Given the description of an element on the screen output the (x, y) to click on. 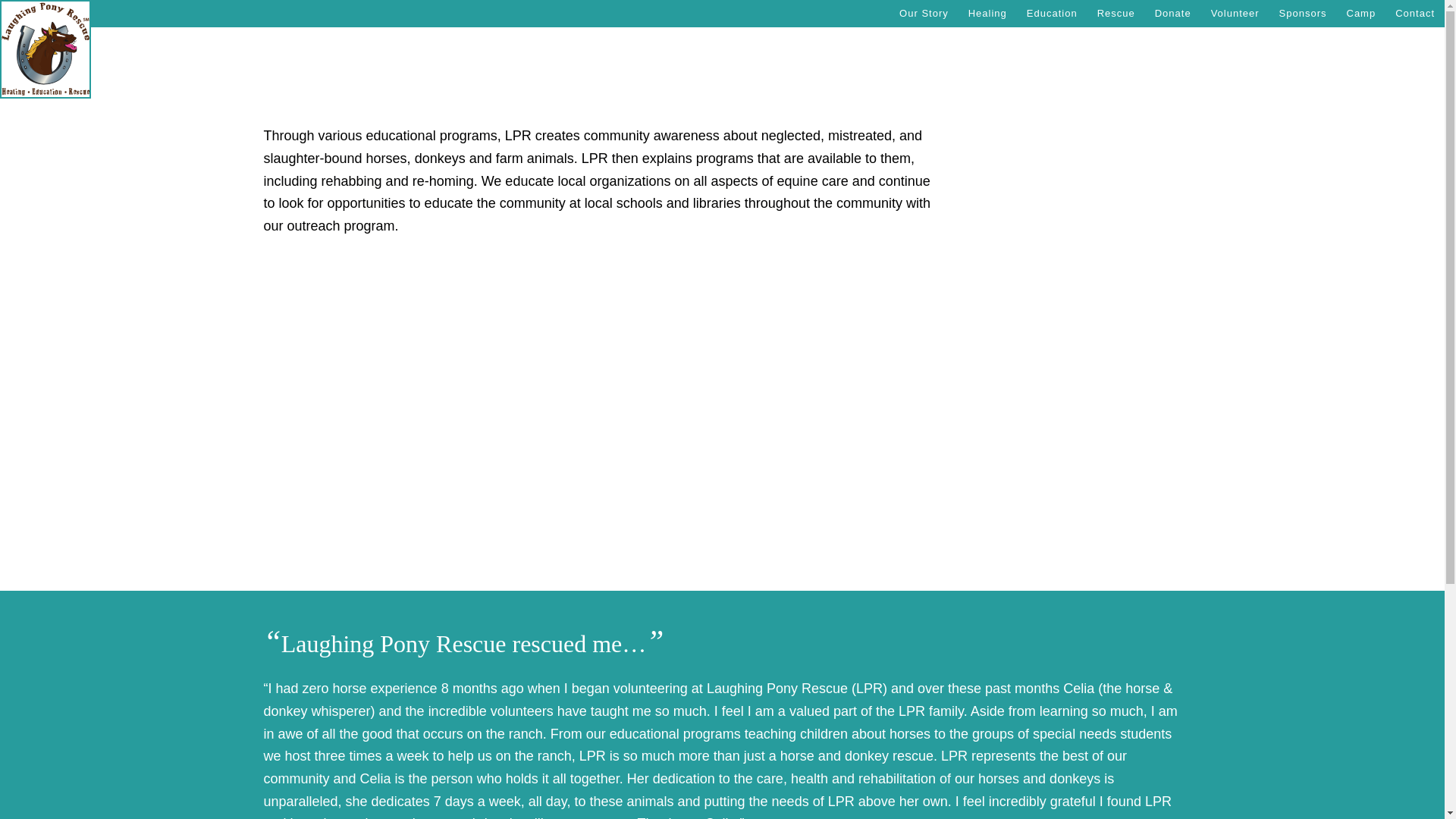
Education (1051, 13)
Healing (987, 13)
Camp (1361, 13)
Our Story (923, 13)
Volunteer (1235, 13)
Donate (1172, 13)
logo-laughing-pony-rescue-text (44, 49)
Sponsors (1302, 13)
Rescue (1115, 13)
